Given the description of an element on the screen output the (x, y) to click on. 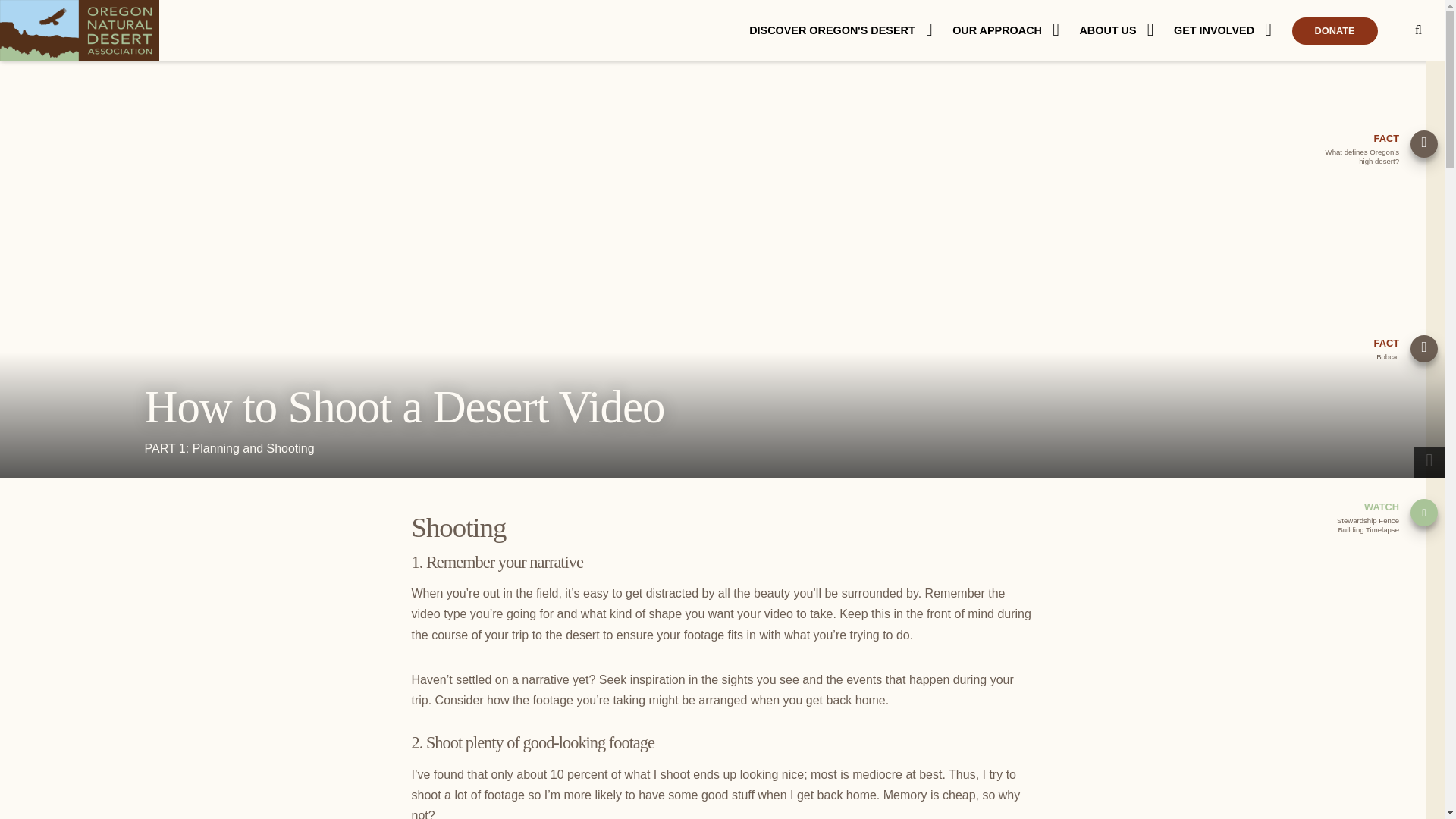
DONATE (1352, 30)
OUR APPROACH (1013, 30)
DISCOVER OREGON'S DESERT (849, 30)
ABOUT US (1124, 30)
GET INVOLVED (1230, 30)
